Given the description of an element on the screen output the (x, y) to click on. 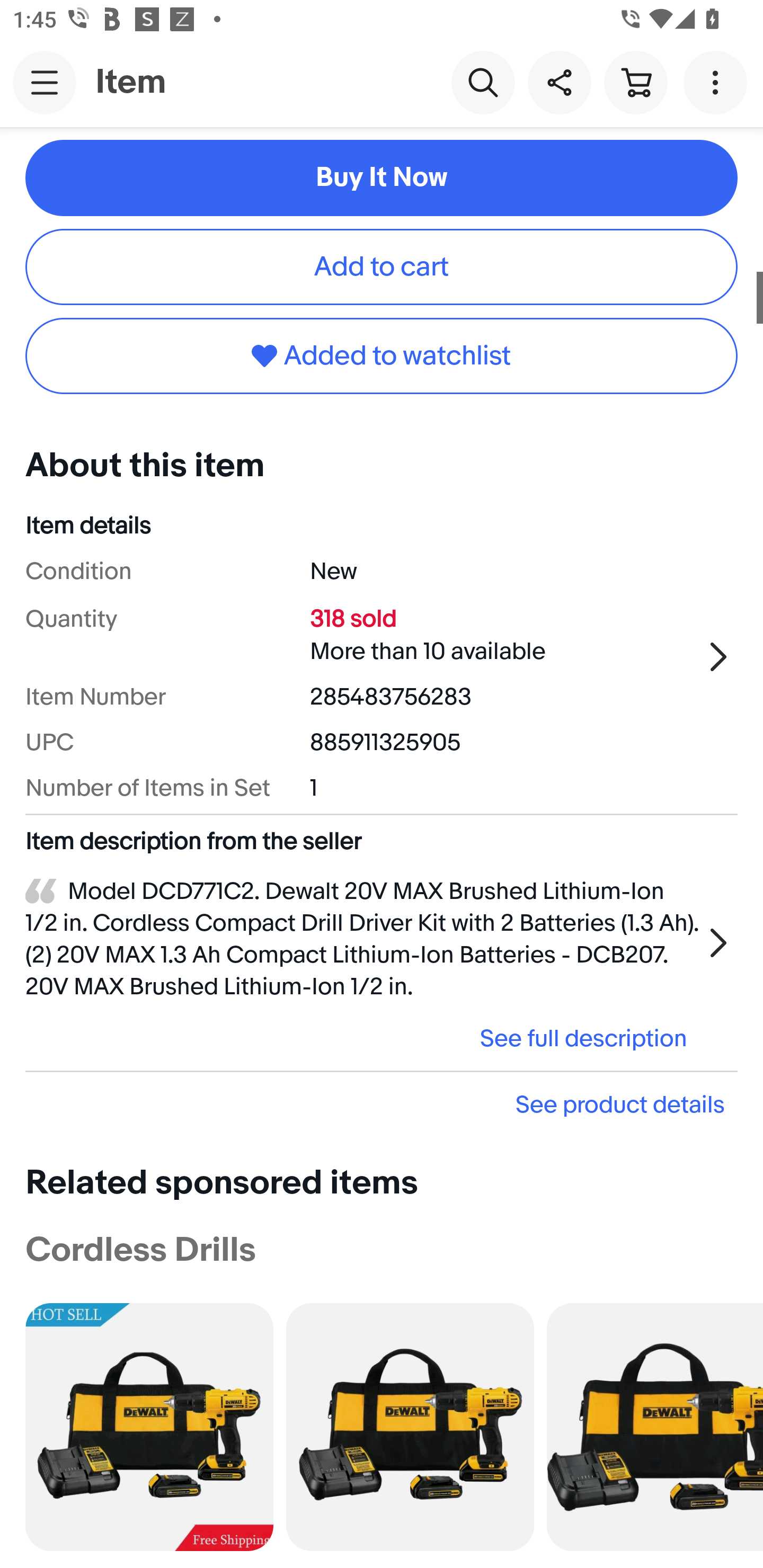
Main navigation, open (44, 82)
Search (482, 81)
Share this item (559, 81)
Cart button shopping cart (635, 81)
More options (718, 81)
Buy It Now (381, 177)
Add to cart (381, 266)
Added to watchlist (381, 355)
See full description (362, 1038)
See product details (381, 1104)
